Given the description of an element on the screen output the (x, y) to click on. 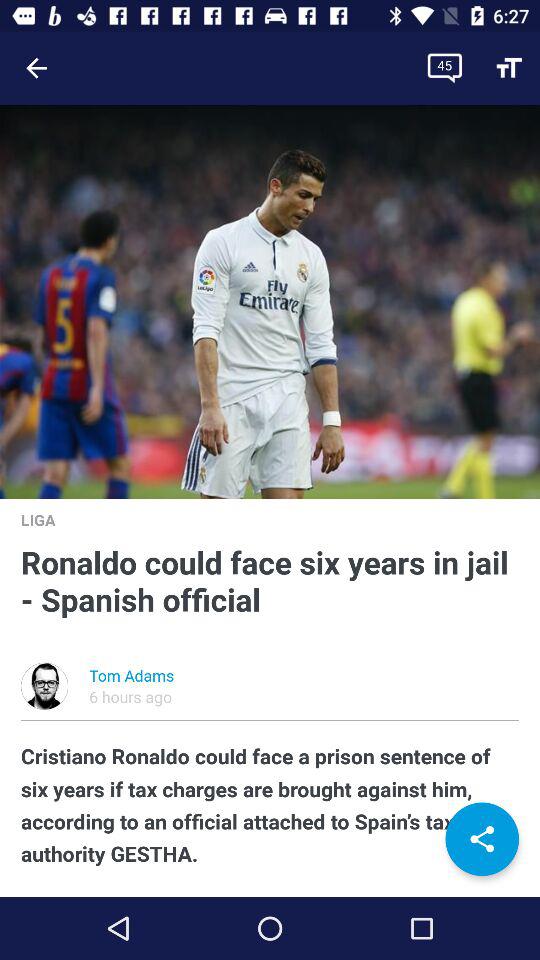
click the icon at the bottom right corner (482, 839)
